Given the description of an element on the screen output the (x, y) to click on. 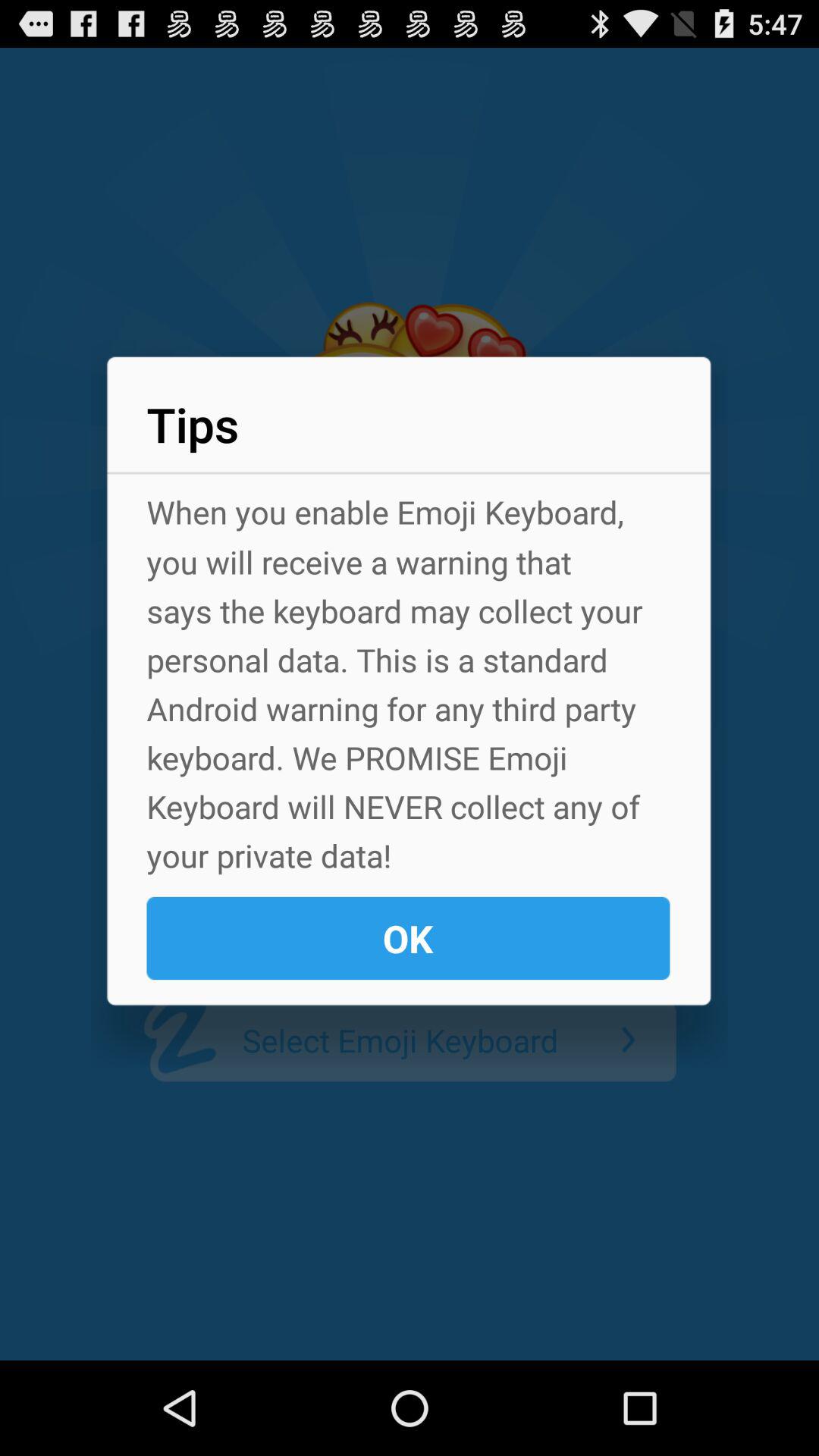
select the icon below the when you enable (407, 937)
